Given the description of an element on the screen output the (x, y) to click on. 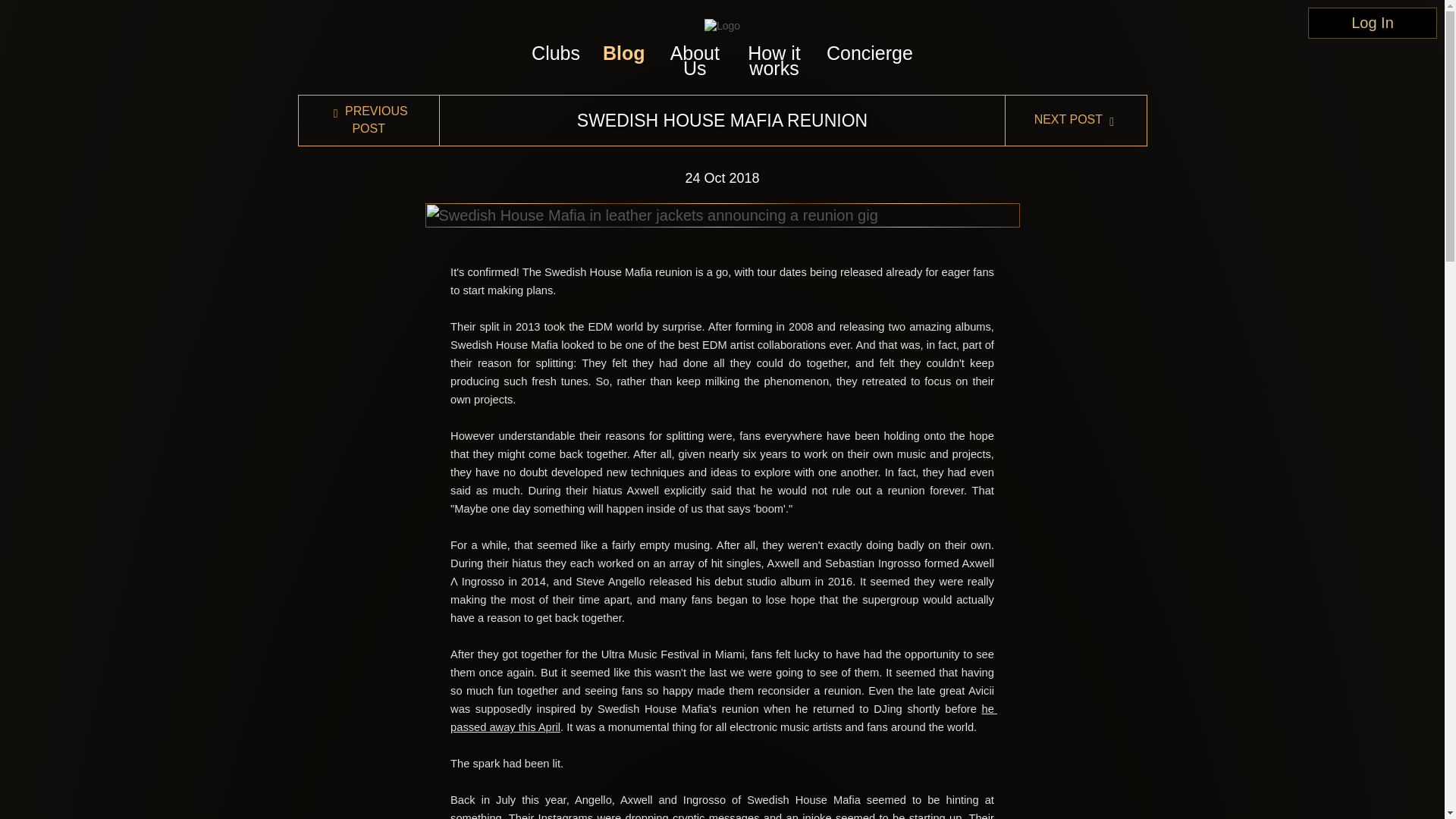
Blog (623, 53)
 PREVIOUS POST (367, 120)
NEXT POST  (1075, 120)
Blog (623, 53)
Logo (721, 26)
About Us (694, 60)
Login (1372, 22)
How it works (774, 60)
Concierge (869, 53)
Clubs (555, 53)
Log In (1372, 22)
Clubs (555, 53)
he passed away this April (723, 717)
